Given the description of an element on the screen output the (x, y) to click on. 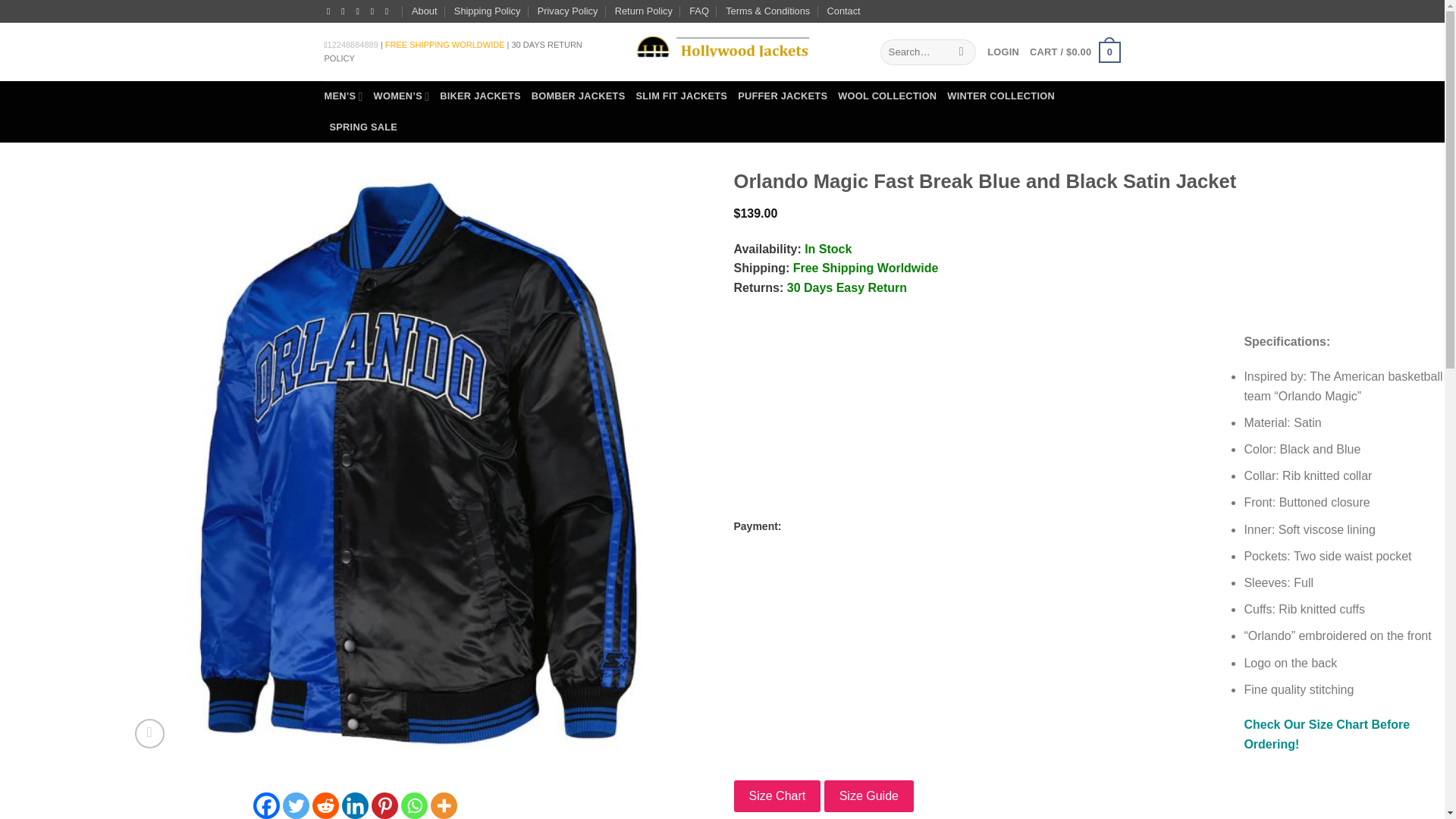
LOGIN (1003, 51)
Contact (843, 11)
Search (961, 52)
Zoom (149, 733)
Cart (1074, 52)
Return Policy (643, 11)
About (424, 11)
Facebook (266, 805)
Hollywood Jackets - Hollywood Jackets (721, 52)
Privacy Policy (567, 11)
12248884889 (352, 44)
Shipping Policy (487, 11)
